Given the description of an element on the screen output the (x, y) to click on. 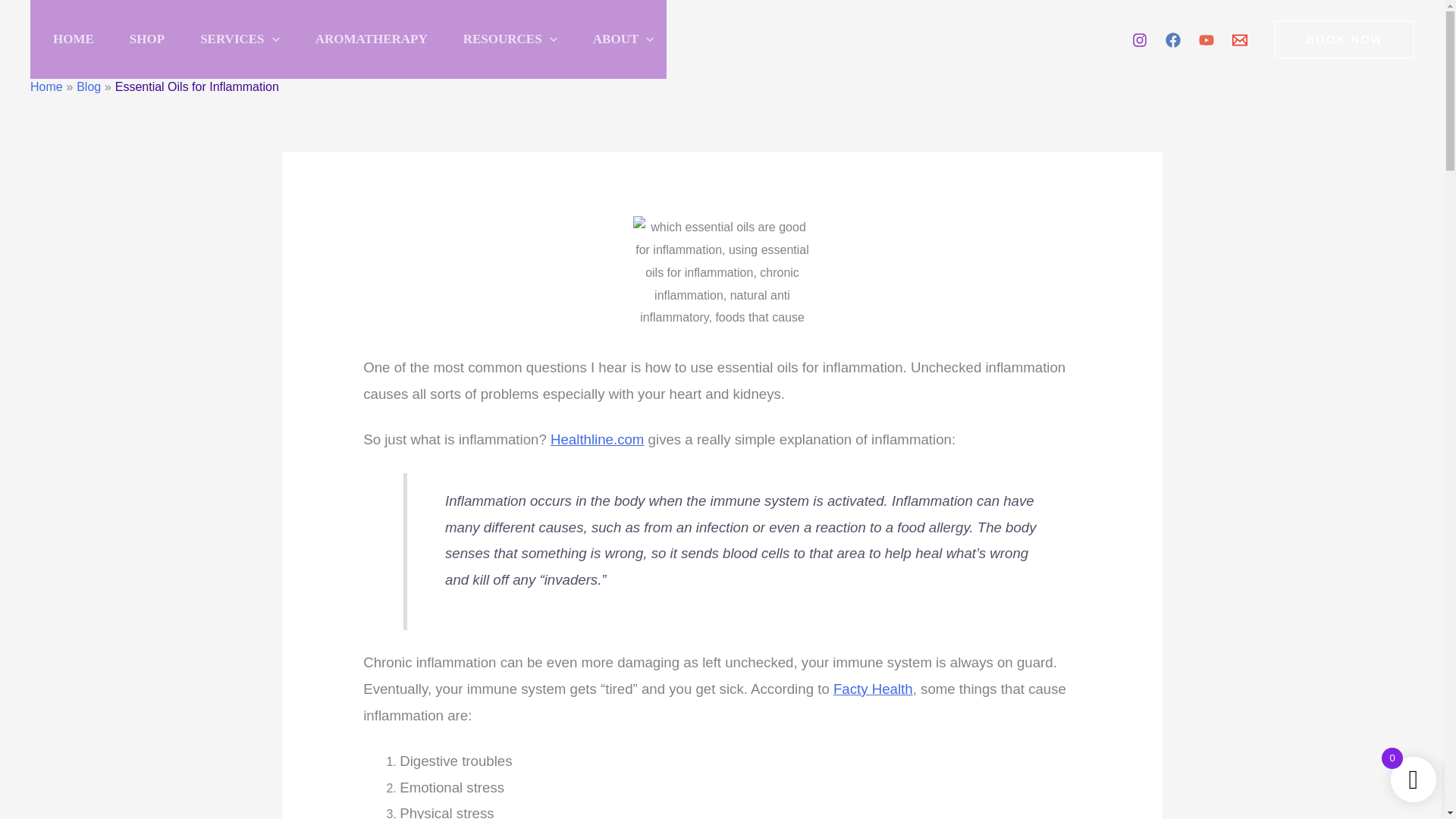
ABOUT (618, 39)
SERVICES (234, 39)
RESOURCES (505, 39)
AROMATHERAPY (366, 39)
BOOK NOW (1344, 39)
HOME (68, 39)
SHOP (141, 39)
Home (46, 86)
Blog (88, 86)
